Given the description of an element on the screen output the (x, y) to click on. 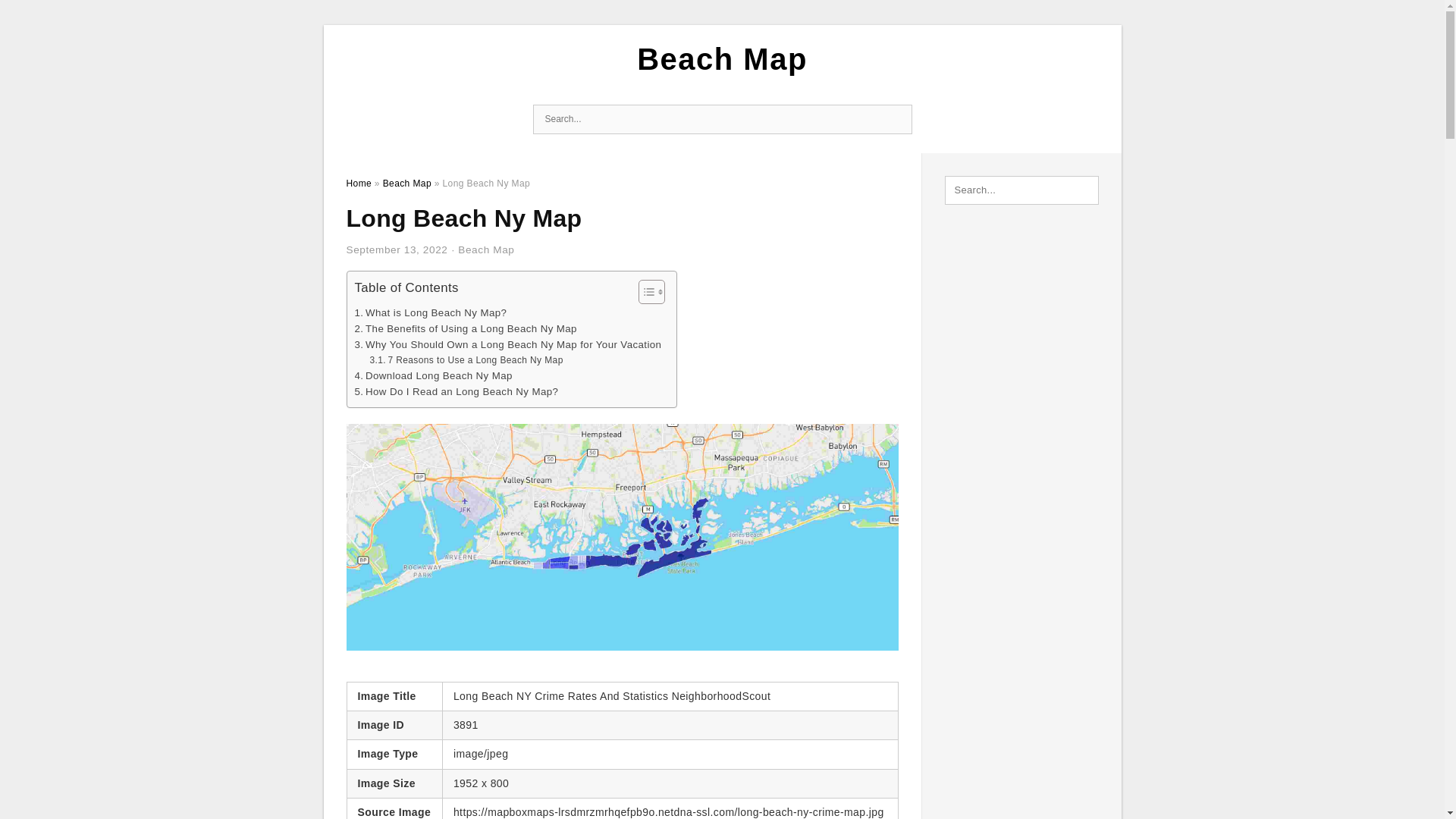
Beach Map (722, 59)
Download Long Beach Ny Map (433, 375)
What is Long Beach Ny Map? (430, 312)
Beach Map (485, 249)
Why You Should Own a Long Beach Ny Map for Your Vacation (508, 344)
How Do I Read an Long Beach Ny Map? (457, 391)
Search for: (721, 119)
Search (895, 119)
What is Long Beach Ny Map? (430, 312)
The Benefits of Using a Long Beach Ny Map (465, 328)
Search (895, 119)
Beach Map (406, 183)
Download Long Beach Ny Map (433, 375)
7 Reasons to Use a Long Beach Ny Map (465, 359)
Home (358, 183)
